Given the description of an element on the screen output the (x, y) to click on. 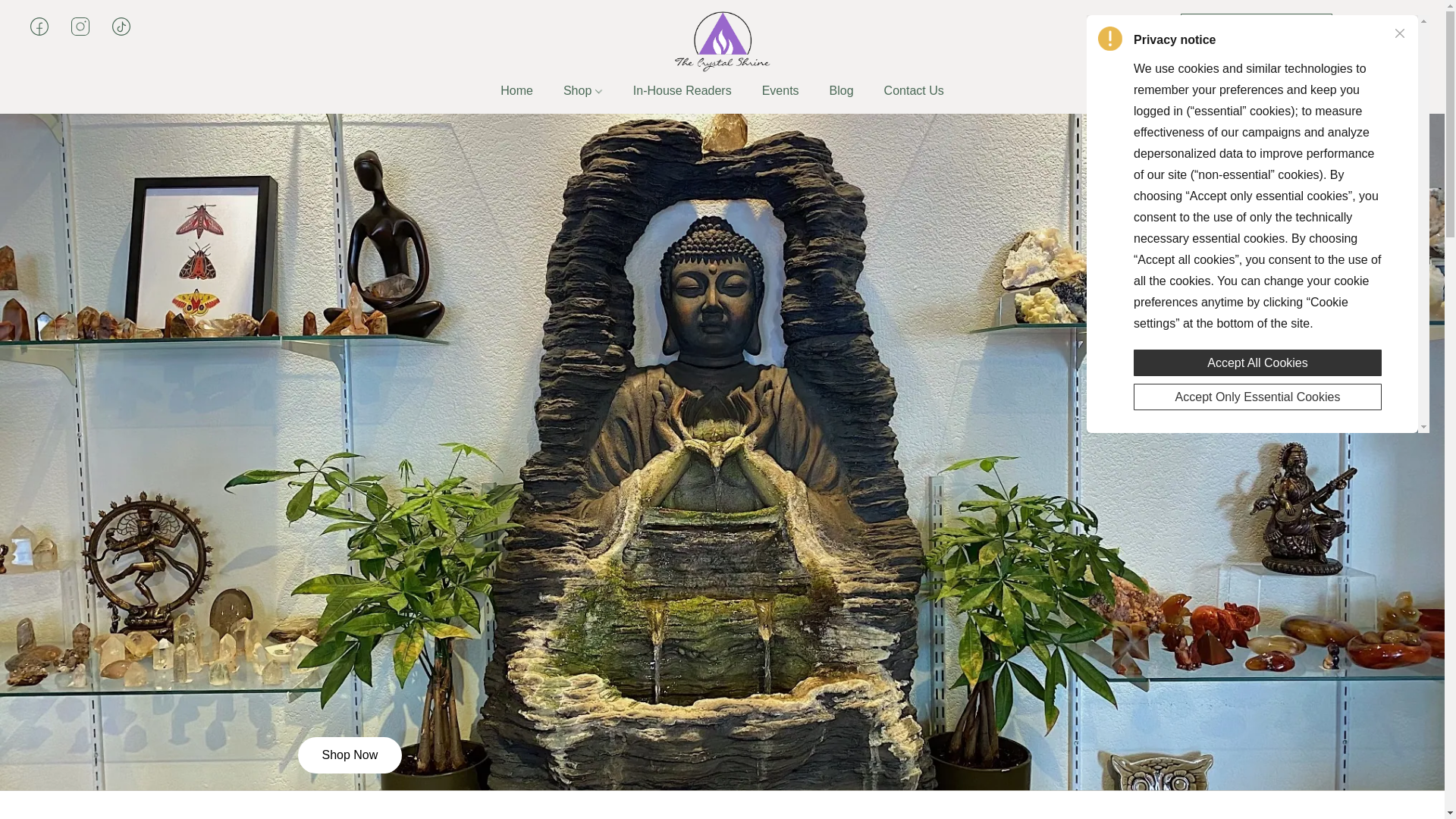
Go to your shopping cart (1404, 26)
Search the website (1363, 26)
Events (779, 90)
Contact Us (906, 90)
Subscribe to Our Newsletter (1256, 26)
Shop (582, 90)
Accept Only Essential Cookies (1257, 394)
Shop Now (349, 755)
Accept All Cookies (1257, 357)
Blog (841, 90)
